Given the description of an element on the screen output the (x, y) to click on. 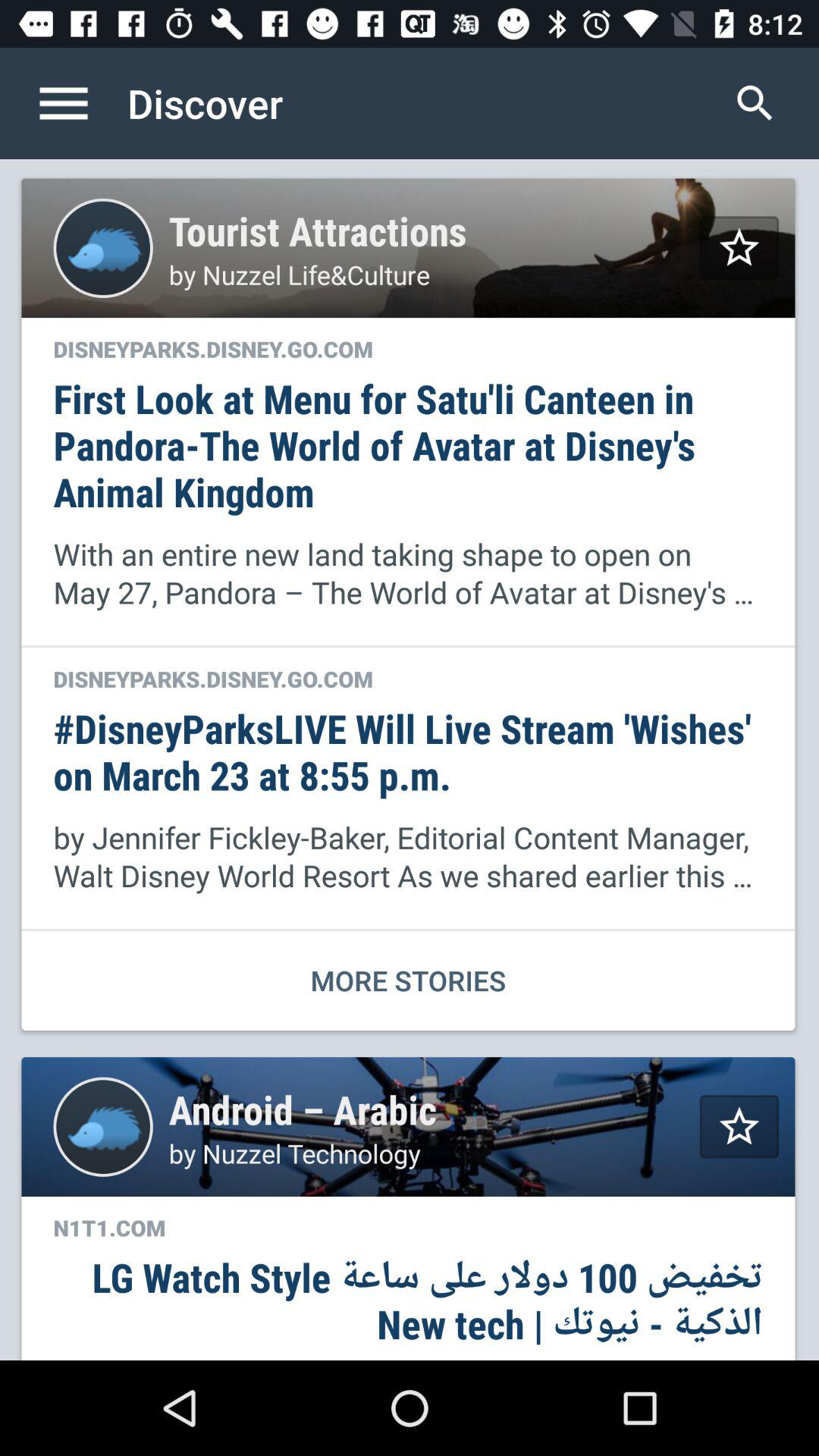
add to favorites (739, 1126)
